Given the description of an element on the screen output the (x, y) to click on. 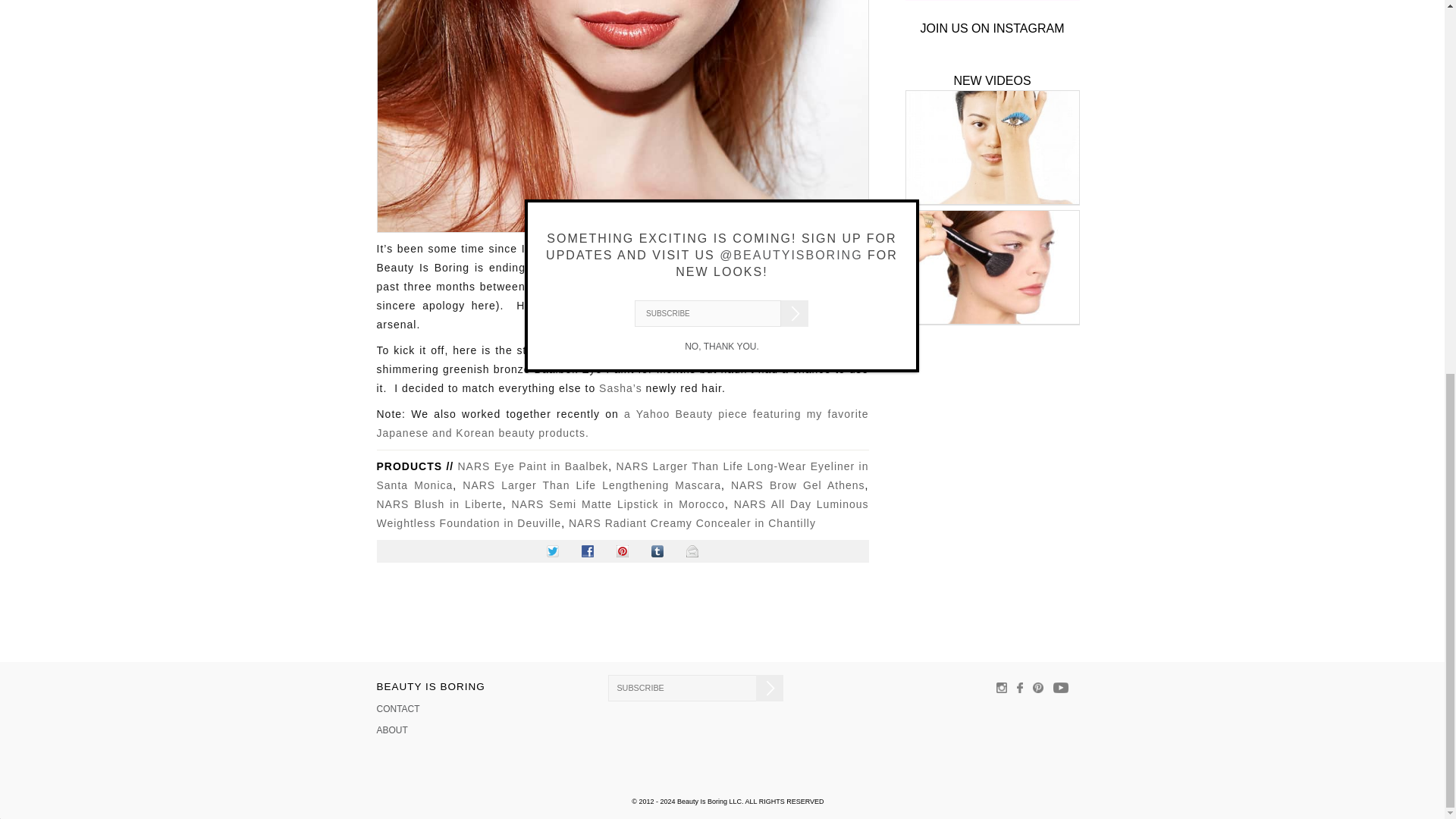
Want more Looks? (992, 1)
